Given the description of an element on the screen output the (x, y) to click on. 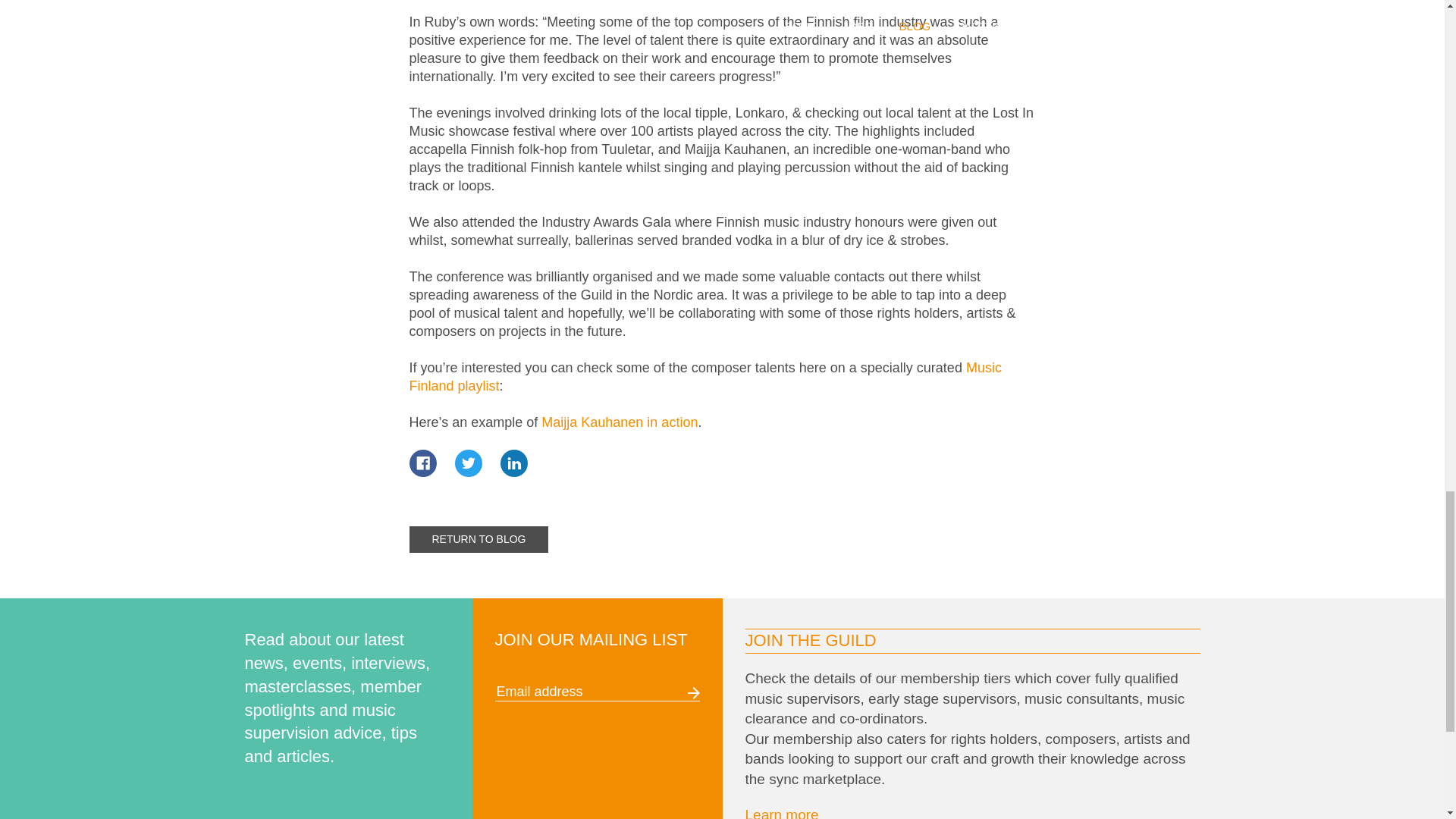
RETURN TO BLOG (478, 539)
Learn more (781, 812)
Subscribe (692, 693)
Subscribe (692, 693)
Music Finland playlist (705, 376)
Maijja Kauhanen in action (619, 421)
